Given the description of an element on the screen output the (x, y) to click on. 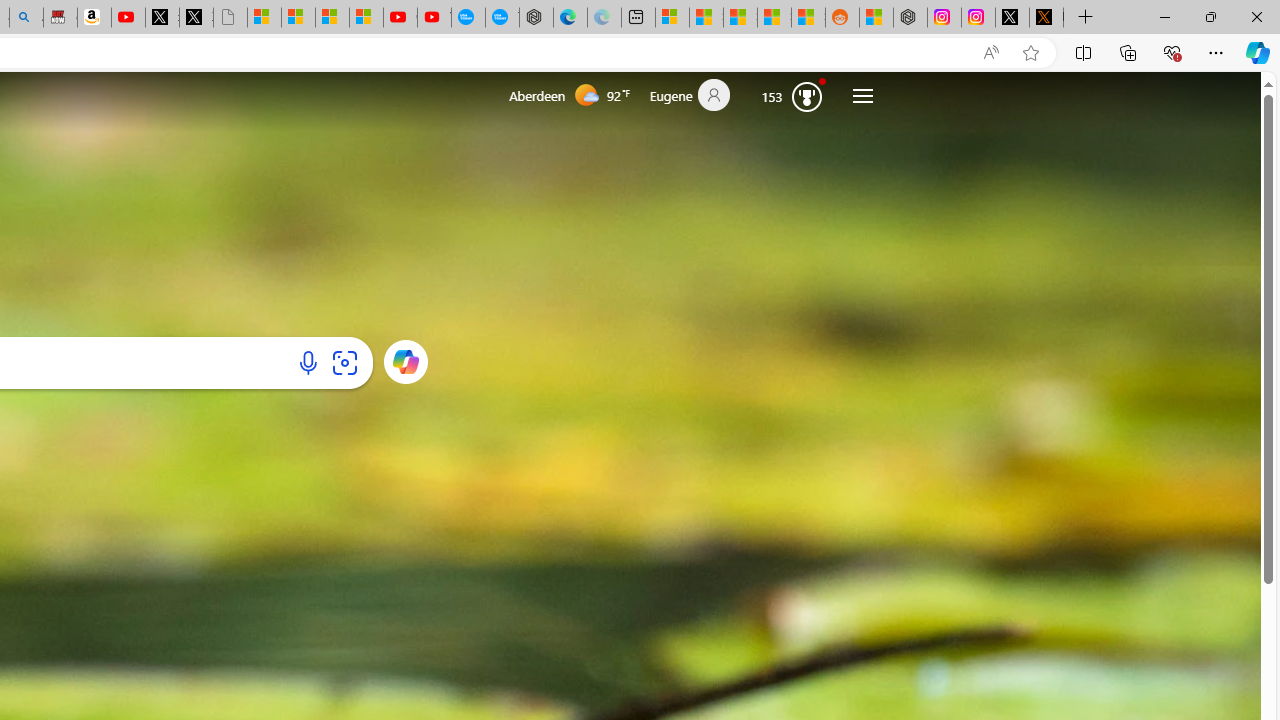
Microsoft account | Microsoft Account Privacy Settings (671, 17)
